Given the description of an element on the screen output the (x, y) to click on. 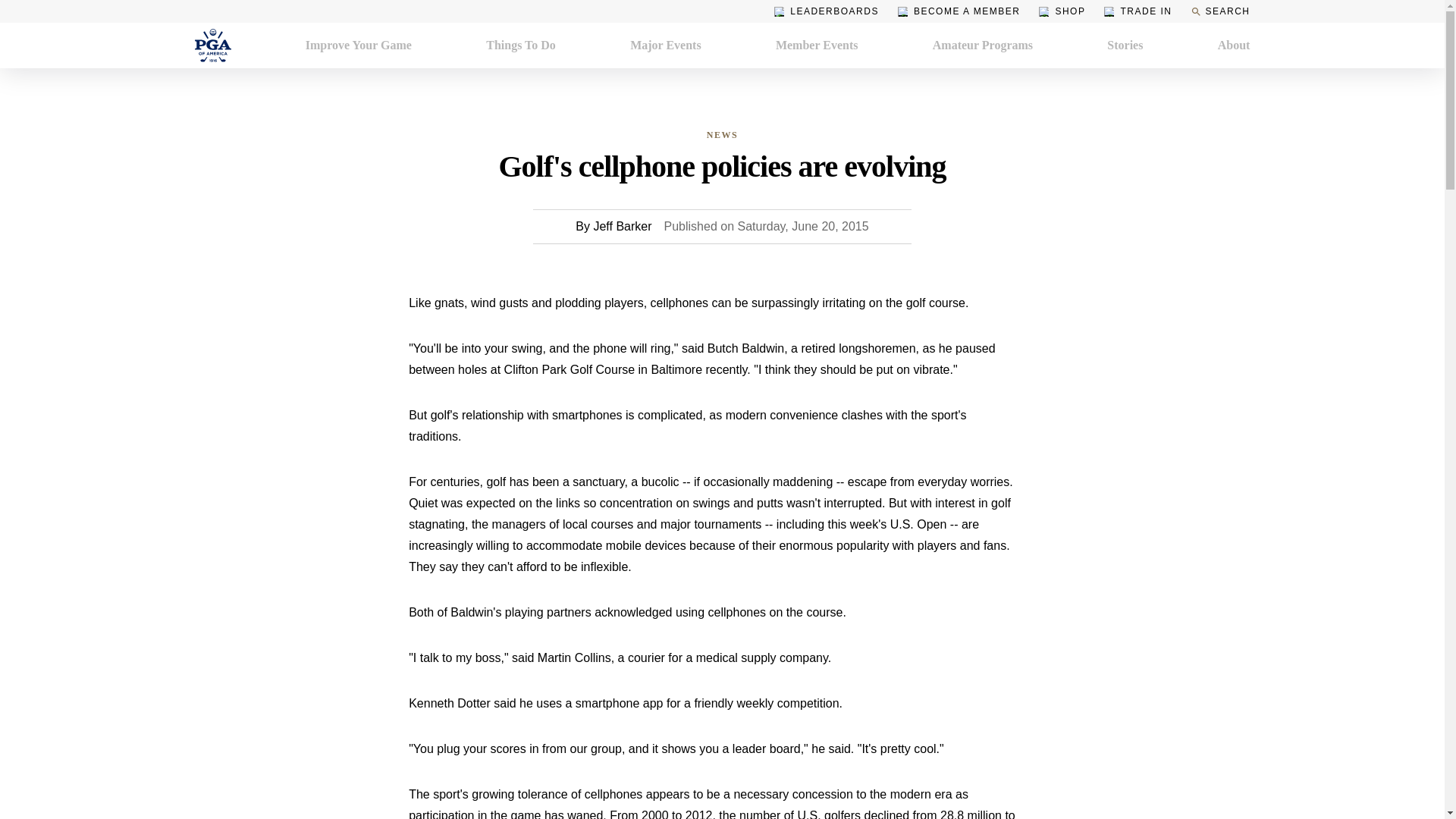
Member Events (817, 44)
PGA Home Page (211, 44)
SHOP (1061, 10)
BECOME A MEMBER (959, 10)
Things To Do (521, 44)
Major Events (665, 44)
Stories (1124, 44)
Improve Your Game (358, 44)
About (1233, 44)
SEARCH (1220, 11)
LEADERBOARDS (826, 10)
TRADE IN (1137, 10)
Amateur Programs (982, 44)
